Given the description of an element on the screen output the (x, y) to click on. 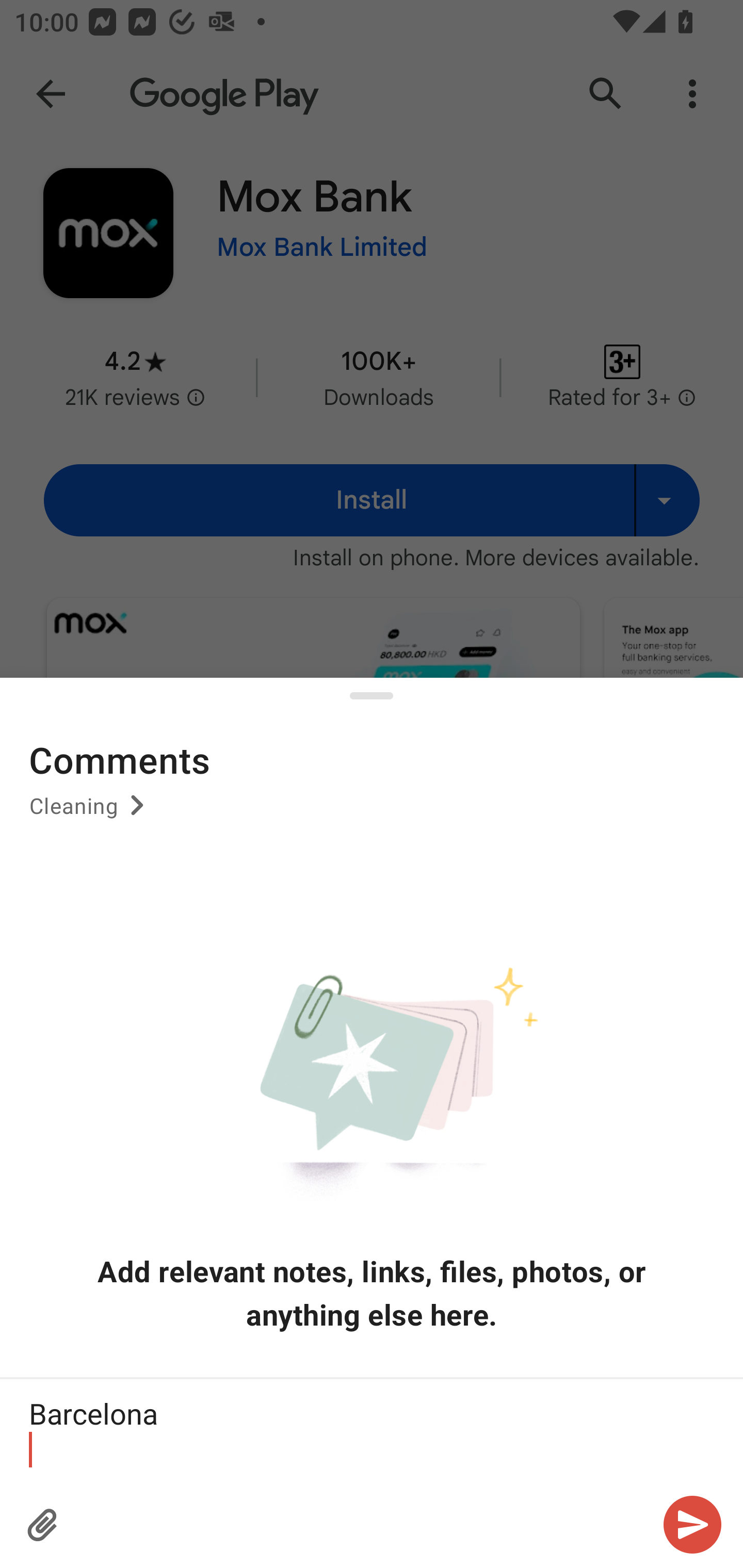
Cleaning (89, 813)
Barcelona
 (371, 1430)
Attachment (43, 1524)
Submit (692, 1524)
